Given the description of an element on the screen output the (x, y) to click on. 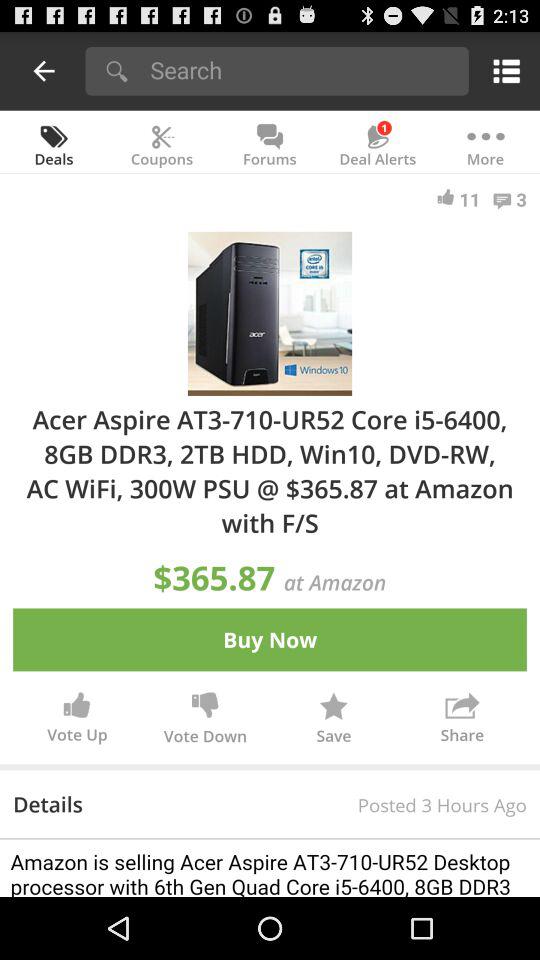
open the button below buy now button (205, 721)
